Given the description of an element on the screen output the (x, y) to click on. 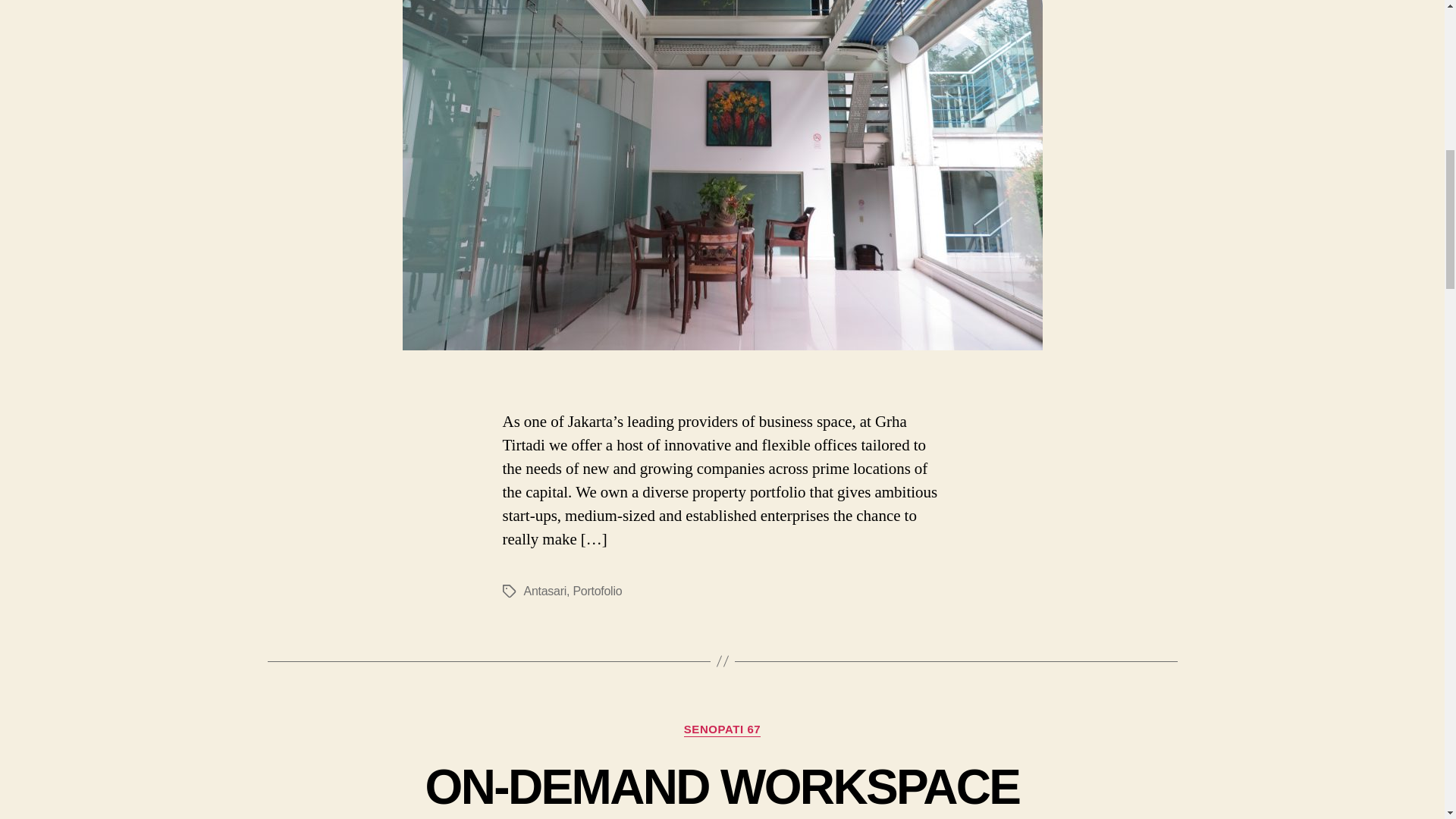
ON-DEMAND WORKSPACE (722, 787)
Antasari (544, 590)
Portofolio (596, 590)
SENOPATI 67 (722, 729)
